Given the description of an element on the screen output the (x, y) to click on. 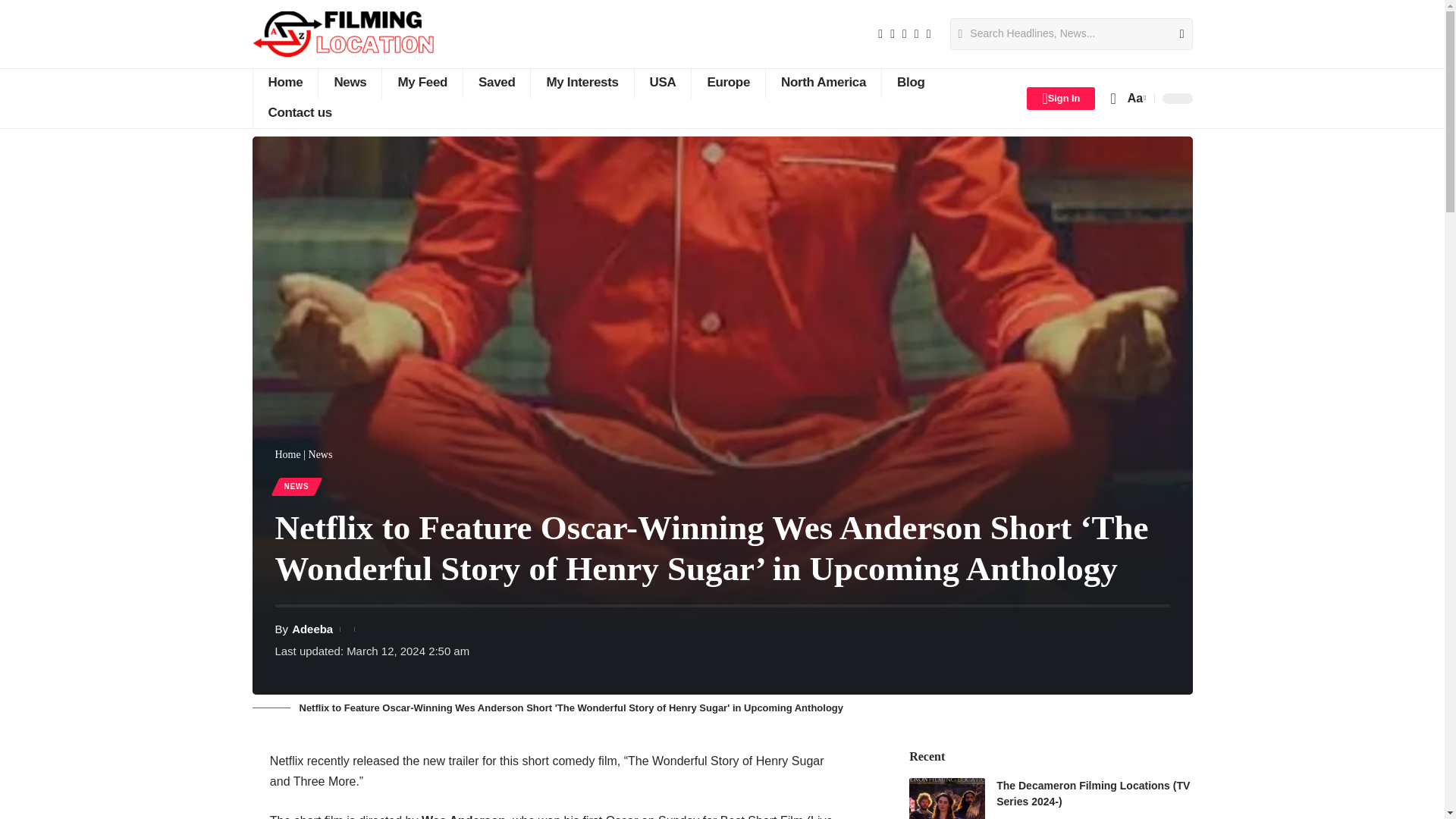
USA (662, 82)
Europe (727, 82)
Sign In (1060, 97)
Blog (909, 82)
Home (284, 82)
Aa (1135, 97)
Saved (496, 82)
Contact us (298, 113)
North America (822, 82)
